Given the description of an element on the screen output the (x, y) to click on. 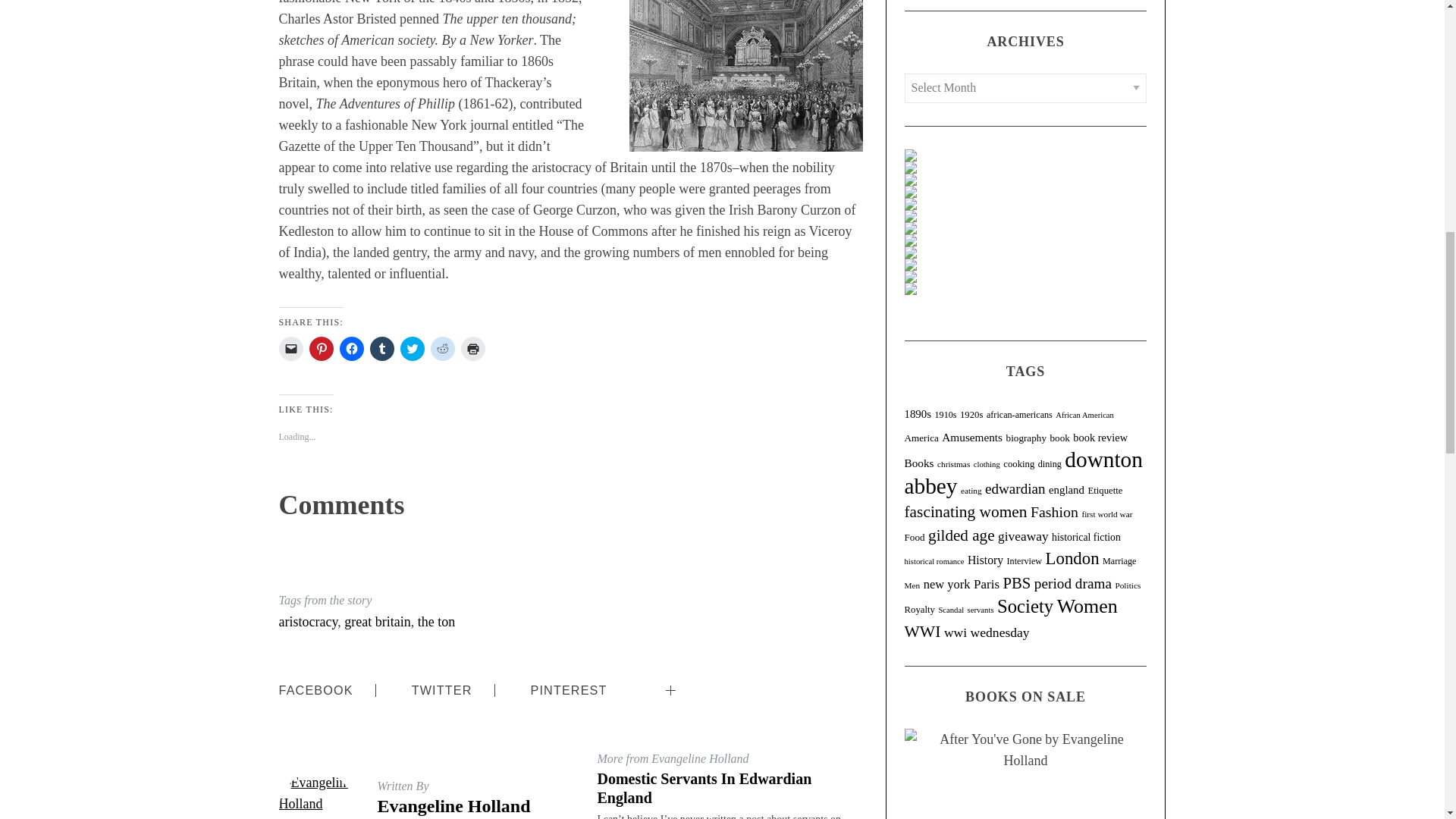
Click to email a link to a friend (290, 348)
late Victorian (745, 75)
Click to print (472, 348)
Click to share on Tumblr (381, 348)
Click to share on Pinterest (320, 348)
Click to share on Twitter (412, 348)
Click to share on Reddit (442, 348)
Click to share on Facebook (351, 348)
